Given the description of an element on the screen output the (x, y) to click on. 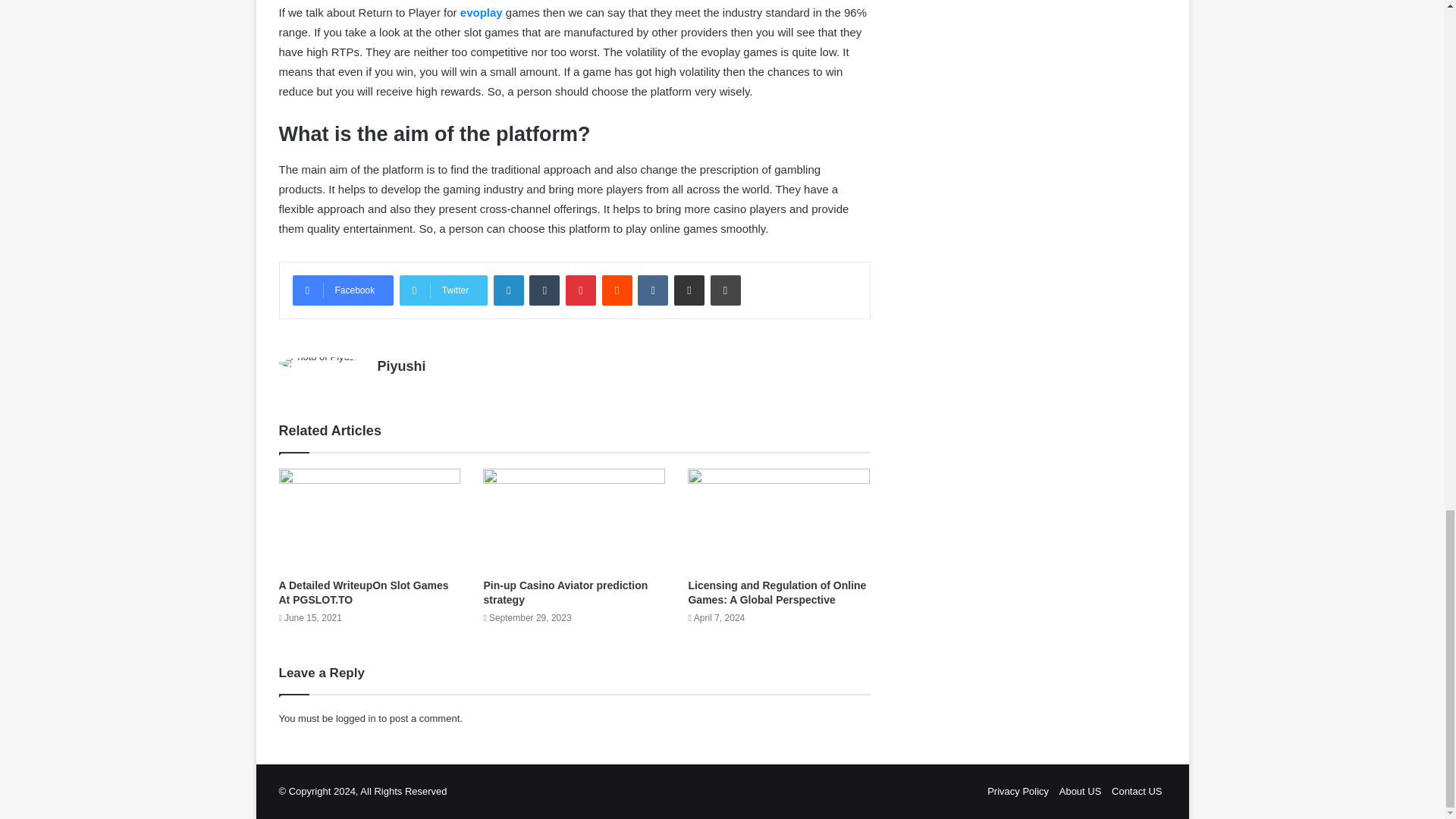
Reddit (616, 290)
Facebook (343, 290)
VKontakte (652, 290)
Pinterest (580, 290)
Pinterest (580, 290)
Reddit (616, 290)
Share via Email (689, 290)
Print (725, 290)
Tumblr (544, 290)
evoplay (481, 11)
LinkedIn (508, 290)
Share via Email (689, 290)
A Detailed WriteupOn Slot Games At PGSLOT.TO (363, 592)
LinkedIn (508, 290)
Twitter (442, 290)
